Given the description of an element on the screen output the (x, y) to click on. 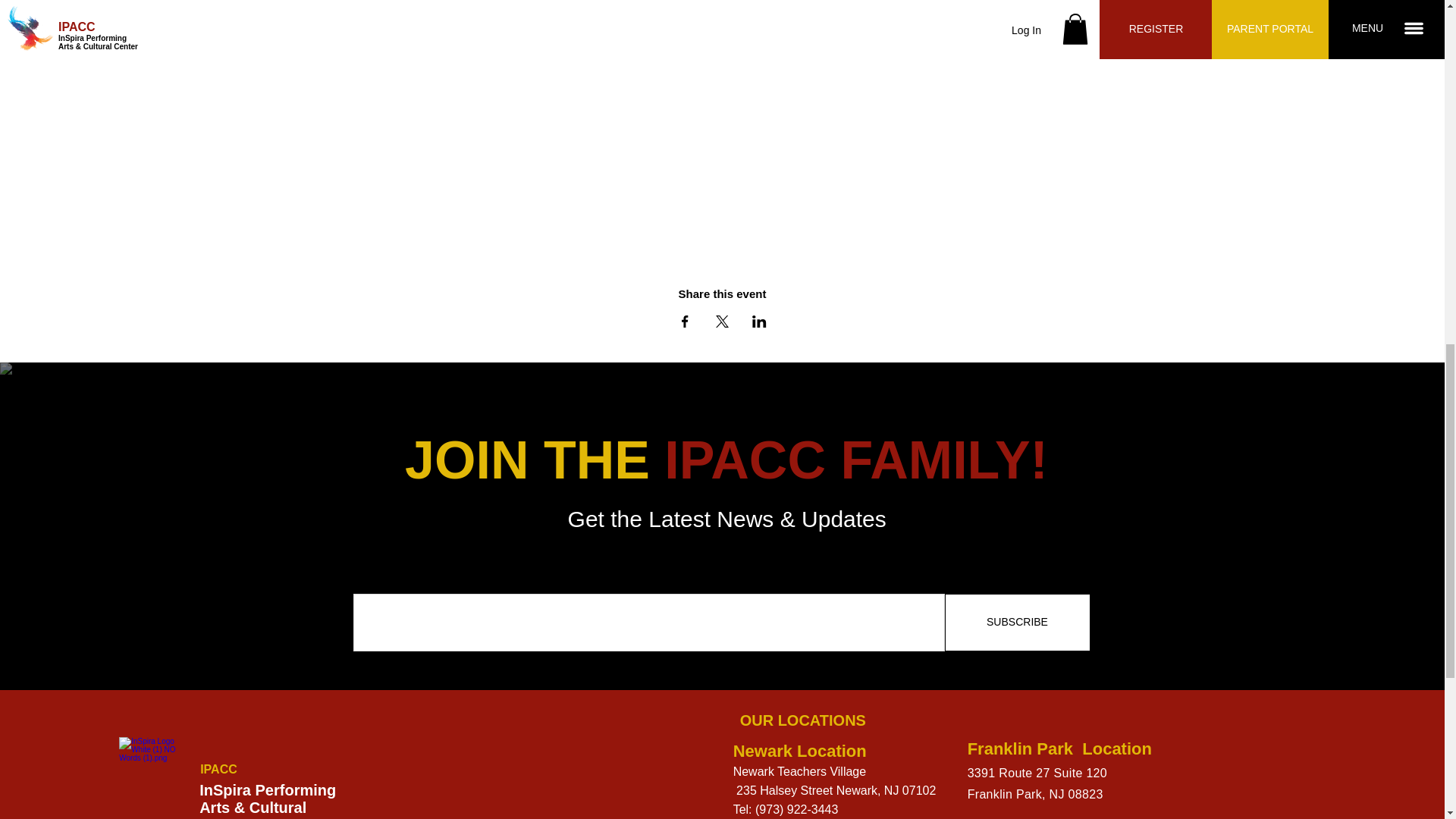
IPACC (218, 768)
SUBSCRIBE (1017, 622)
